Given the description of an element on the screen output the (x, y) to click on. 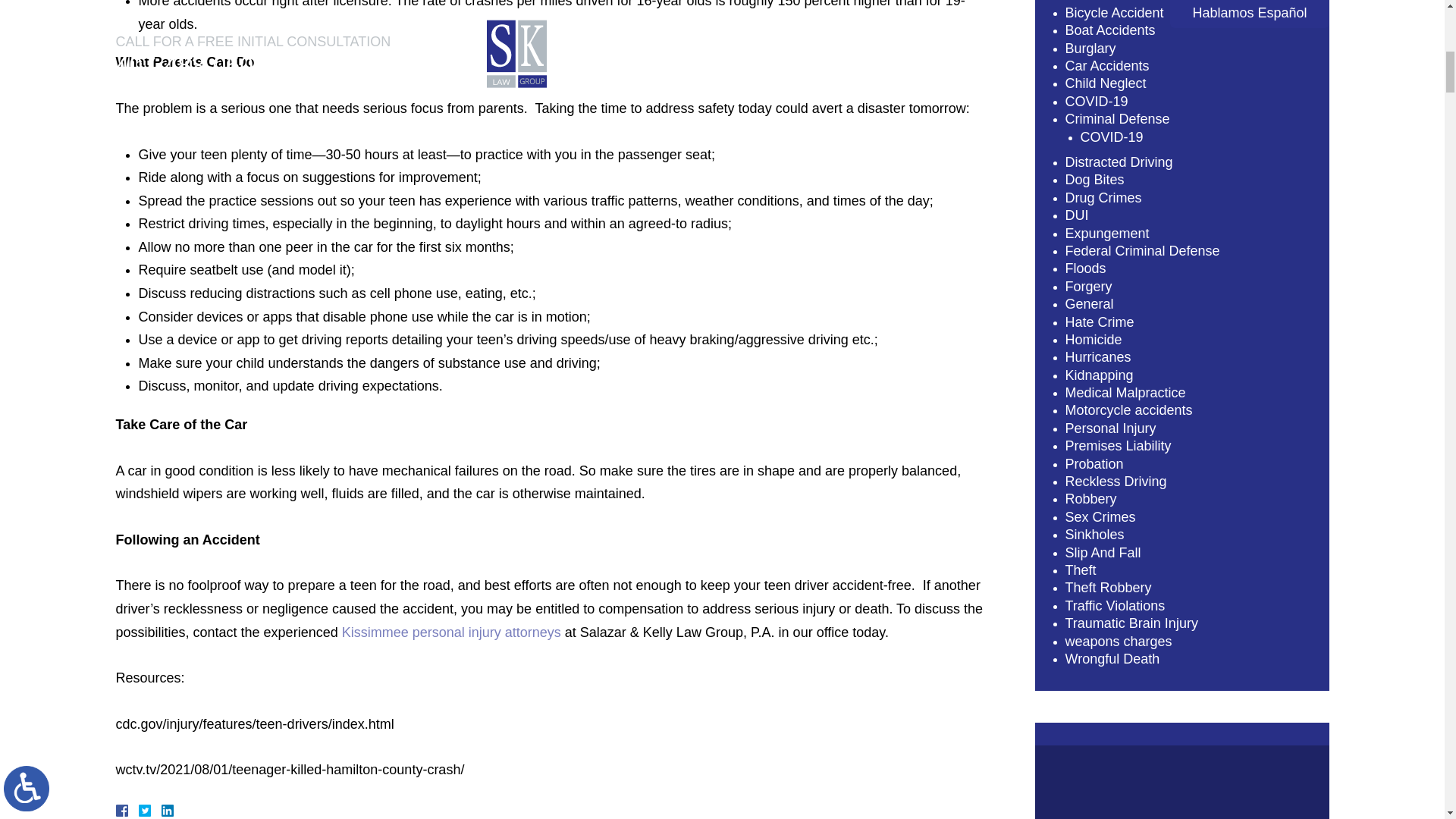
Facebook (139, 810)
Twitter (149, 810)
LinkedIn (160, 810)
